Given the description of an element on the screen output the (x, y) to click on. 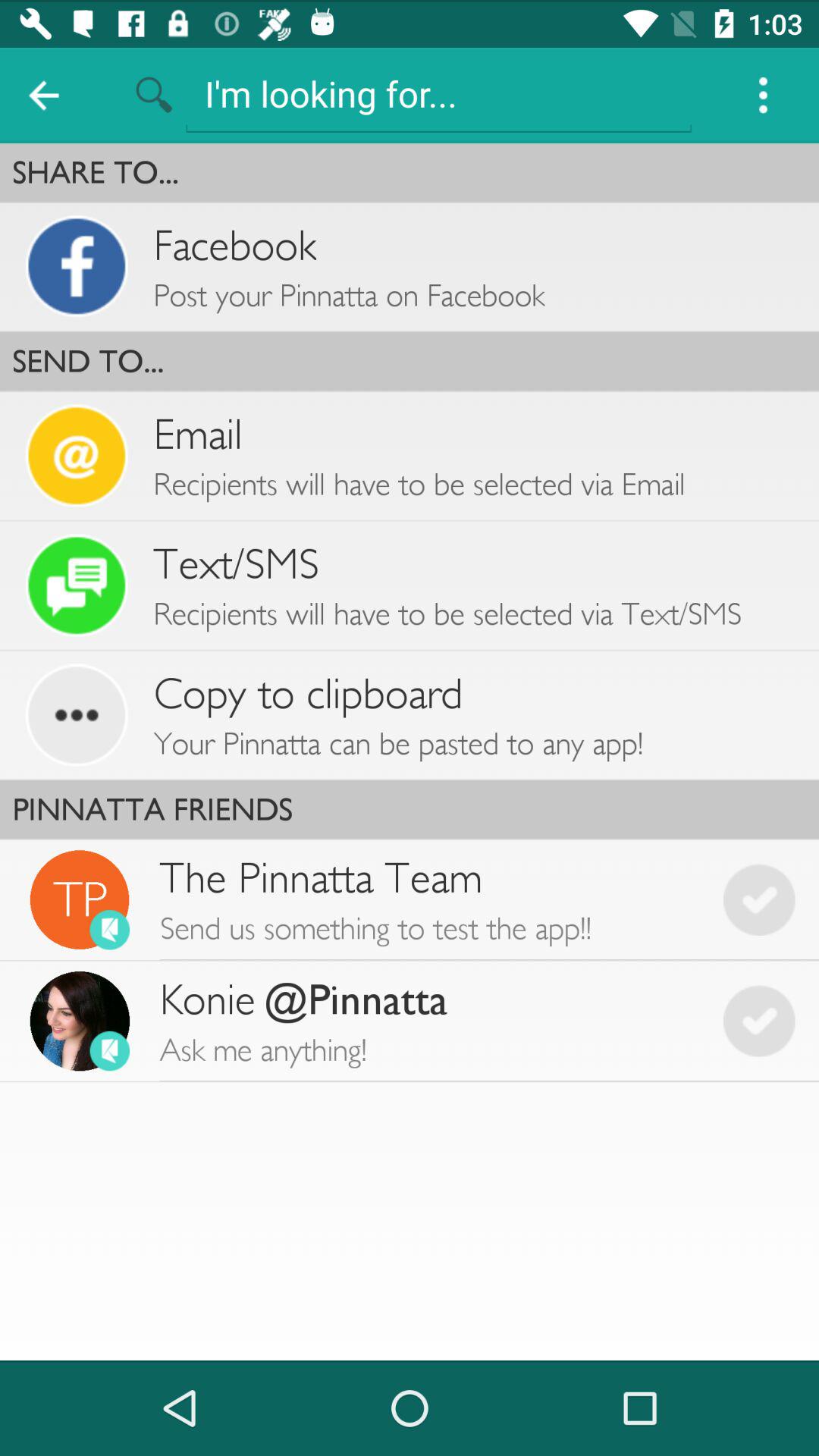
open the konie pinnatta ask item (429, 1020)
